Given the description of an element on the screen output the (x, y) to click on. 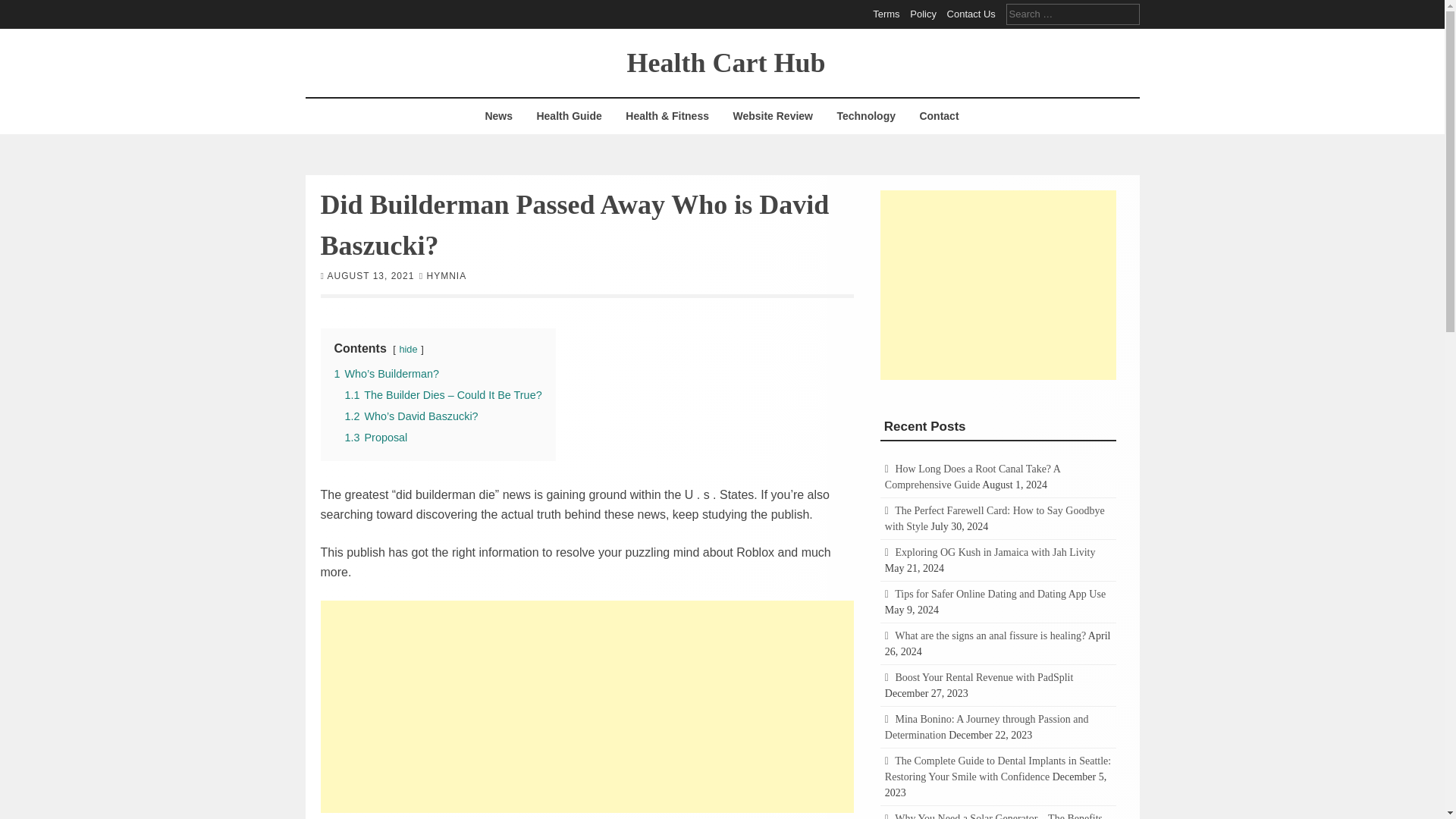
Advertisement (586, 706)
Website Review (772, 116)
The Perfect Farewell Card: How to Say Goodbye with Style (995, 518)
Tips for Safer Online Dating and Dating App Use (1000, 593)
Exploring OG Kush in Jamaica with Jah Livity (994, 552)
Mina Bonino: A Journey through Passion and Determination (987, 727)
Health Cart Hub (725, 61)
Boost Your Rental Revenue with PadSplit (984, 677)
Health Guide (568, 116)
News (498, 116)
hide (407, 348)
Technology (866, 116)
1.3 Proposal (375, 436)
Policy (923, 13)
